Given the description of an element on the screen output the (x, y) to click on. 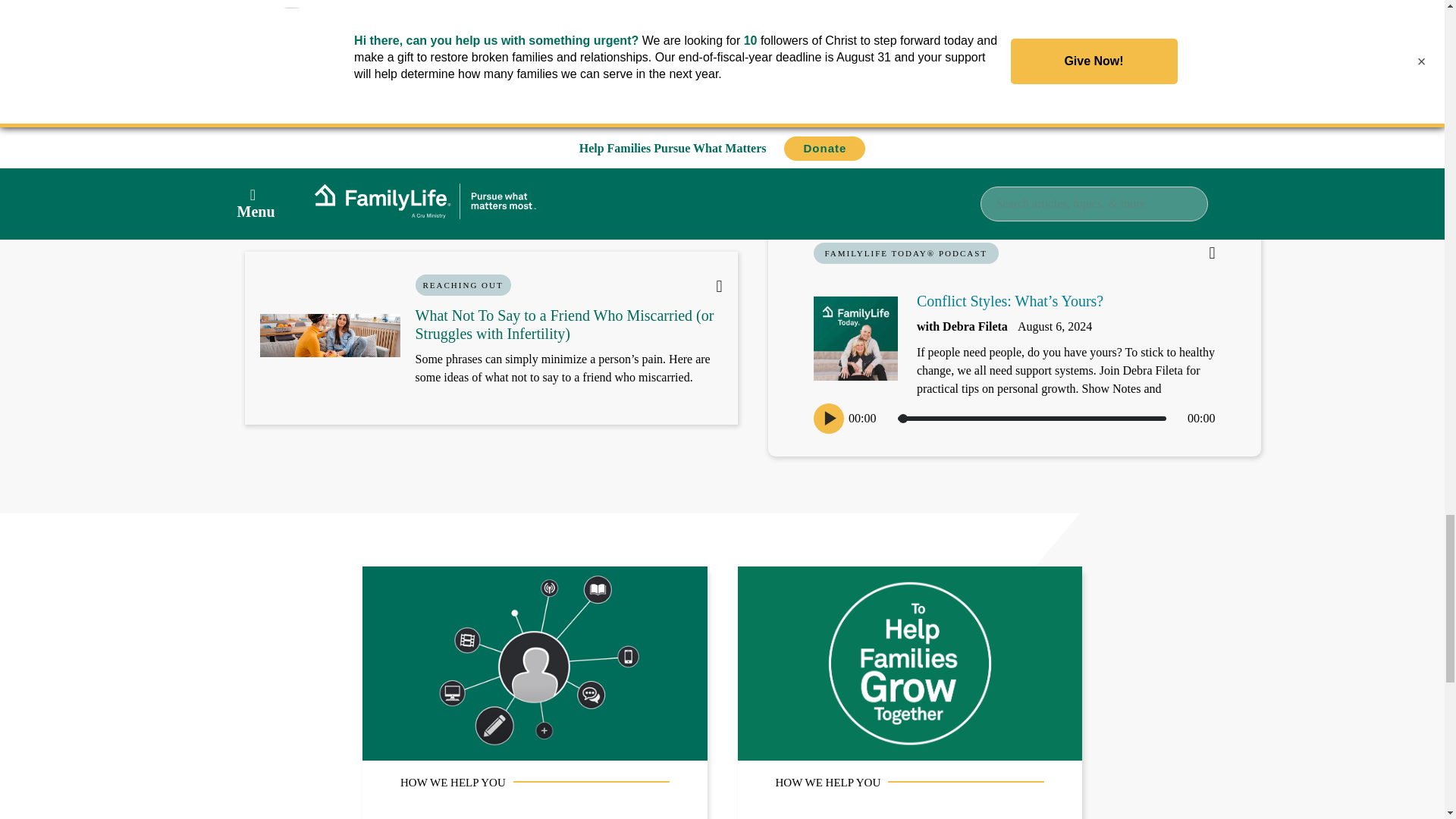
Subscribe (980, 27)
REACHING OUT (462, 284)
click to join (980, 27)
How can we reach you? (721, 18)
Please introduce yourself (462, 18)
0 (1032, 418)
